Given the description of an element on the screen output the (x, y) to click on. 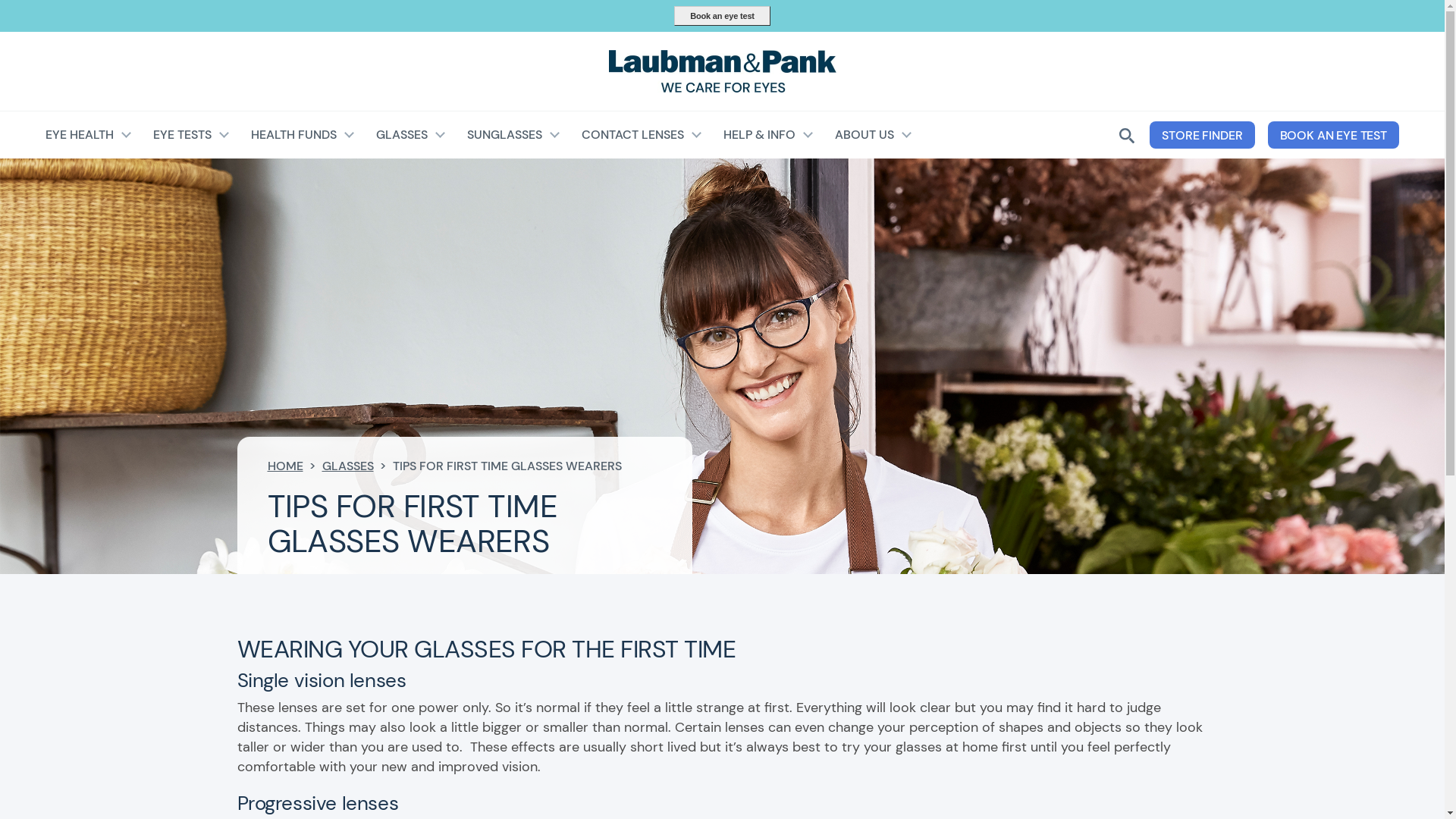
EYE TESTS Element type: text (191, 134)
ABOUT US Element type: text (873, 134)
Search Element type: text (922, 186)
SUNGLASSES Element type: text (514, 134)
Book an eye test Element type: text (722, 15)
GLASSES Element type: text (411, 134)
EYE HEALTH Element type: text (88, 134)
Laubman & Pank Element type: hover (721, 71)
Skip to main content Element type: text (721, 1)
GLASSES Element type: text (347, 465)
BOOK AN EYE TEST Element type: text (1333, 134)
HEALTH FUNDS Element type: text (303, 134)
HOME Element type: text (284, 465)
CONTACT LENSES Element type: text (641, 134)
HELP & INFO Element type: text (768, 134)
STORE FINDER Element type: text (1201, 134)
